Given the description of an element on the screen output the (x, y) to click on. 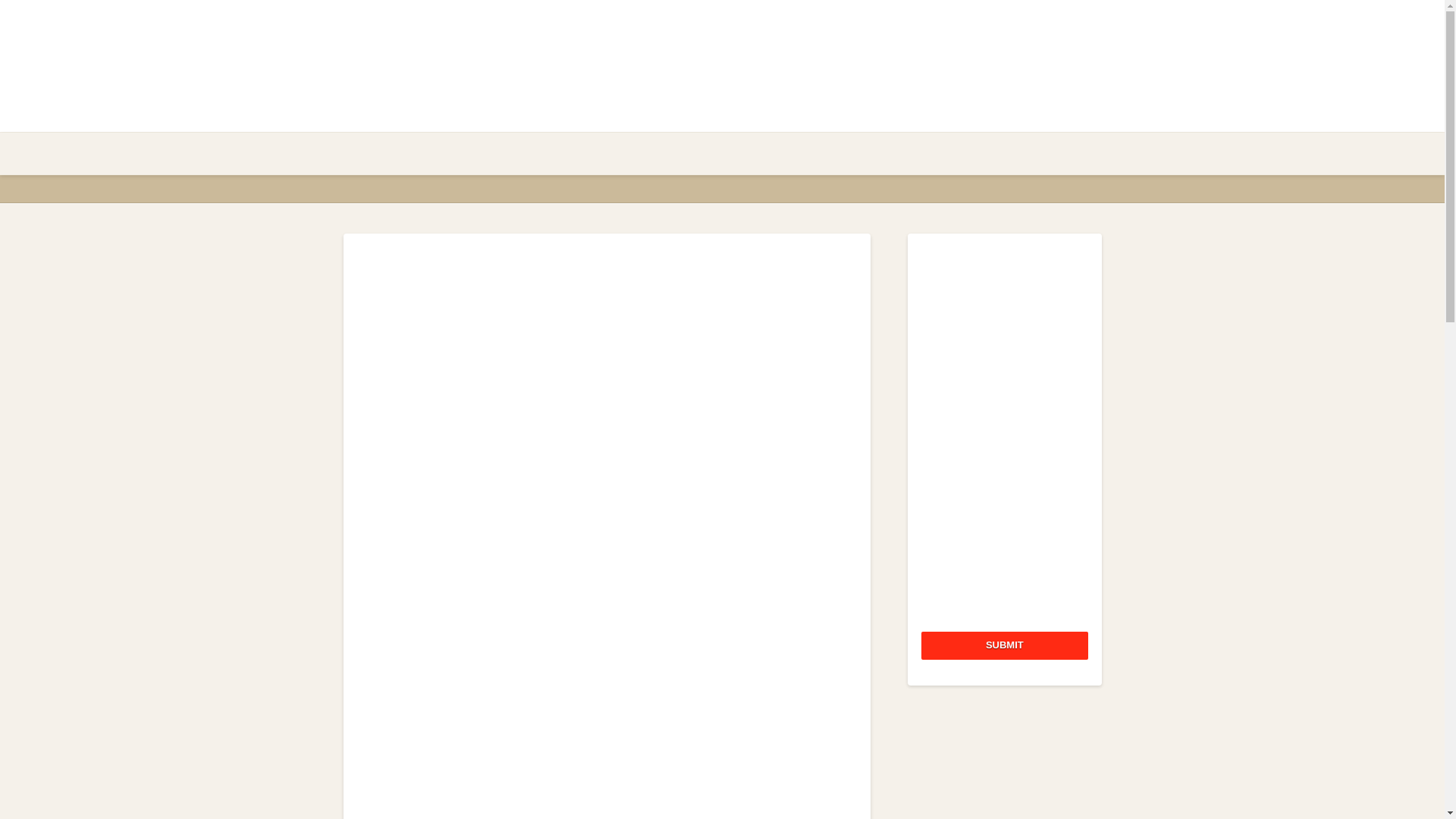
Submit (1003, 645)
